Given the description of an element on the screen output the (x, y) to click on. 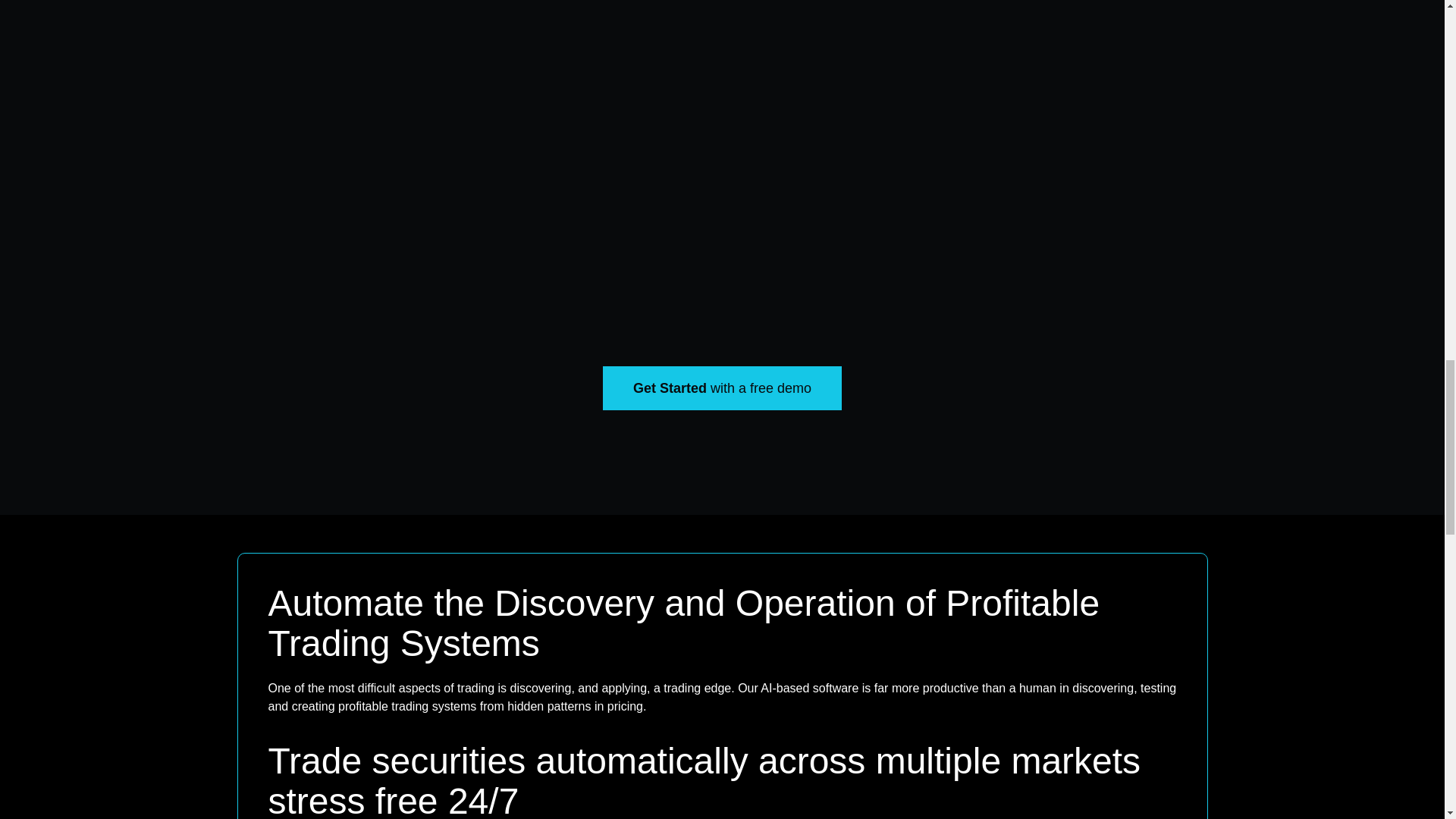
Get Started with a free demo (721, 388)
